Given the description of an element on the screen output the (x, y) to click on. 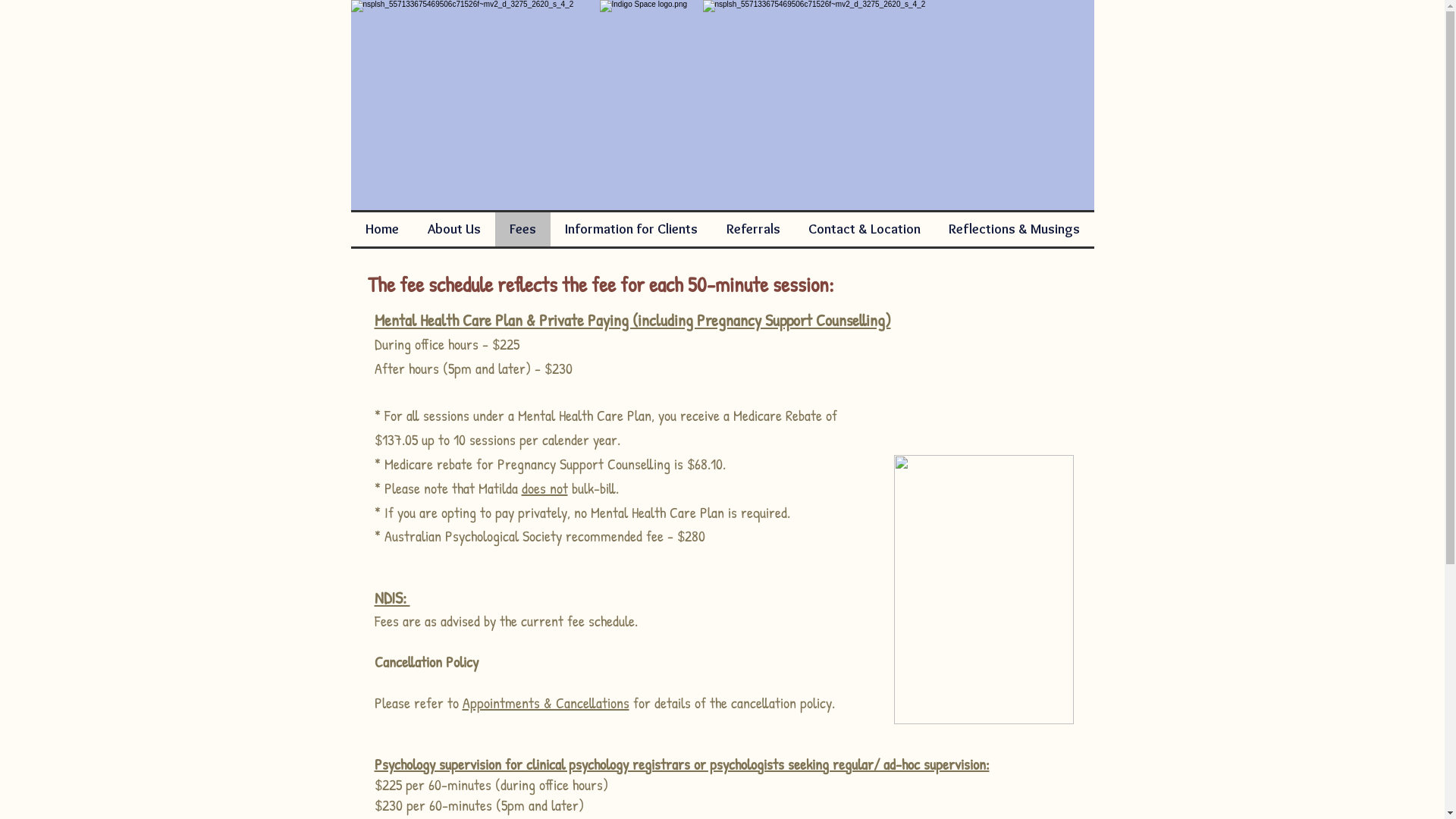
Home Element type: text (381, 229)
Information for Clients Element type: text (631, 229)
Fees Element type: text (521, 229)
pebbles 2 Element type: hover (983, 589)
Reflections & Musings Element type: text (1013, 229)
Appointments & Cancellations Element type: text (545, 702)
Contact & Location Element type: text (864, 229)
Referrals Element type: text (752, 229)
About Us Element type: text (453, 229)
